Given the description of an element on the screen output the (x, y) to click on. 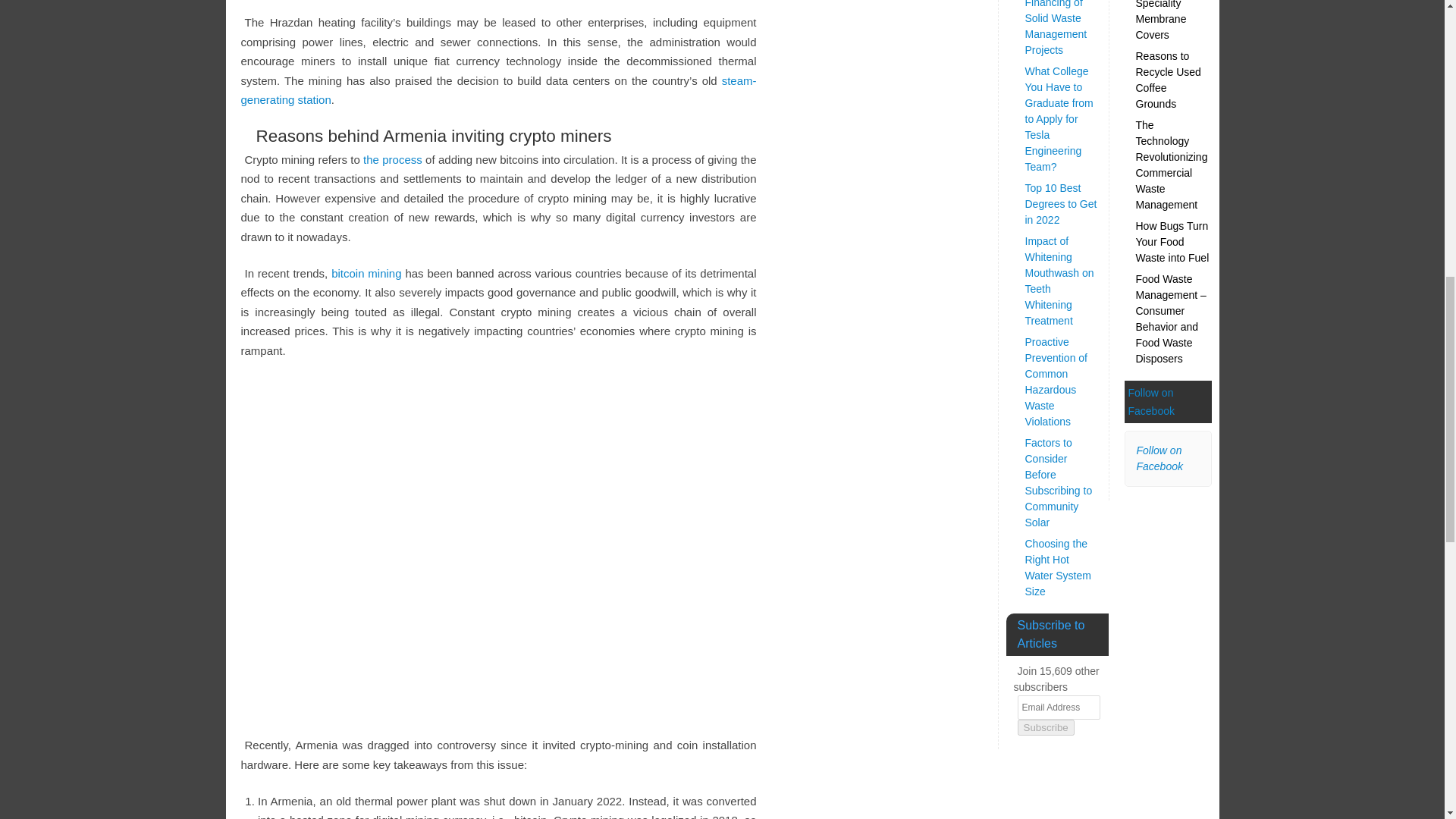
bitcoin mining (366, 273)
the process (392, 159)
steam-generating station (499, 90)
